Given the description of an element on the screen output the (x, y) to click on. 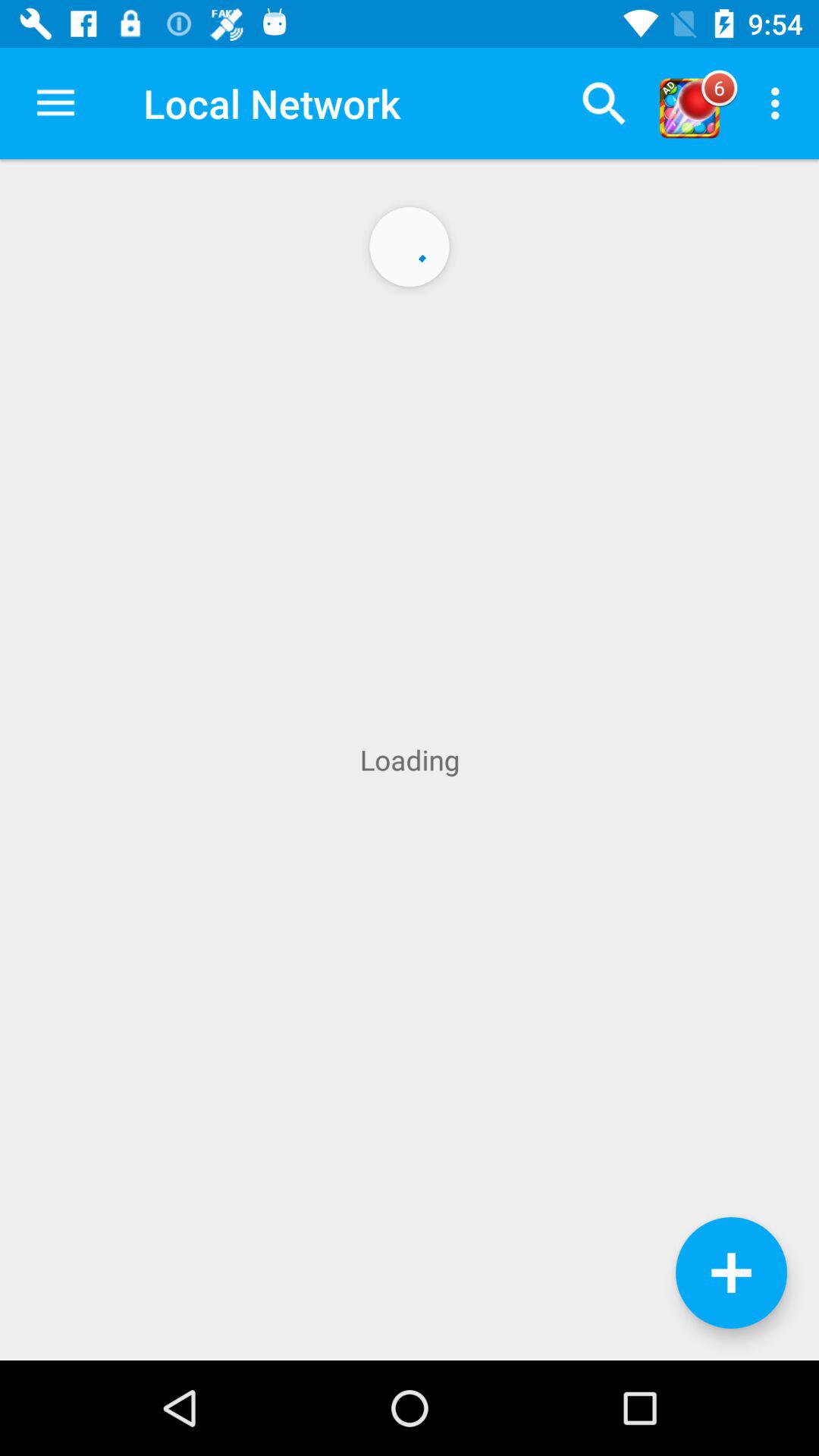
turn off the item at the bottom right corner (731, 1272)
